Given the description of an element on the screen output the (x, y) to click on. 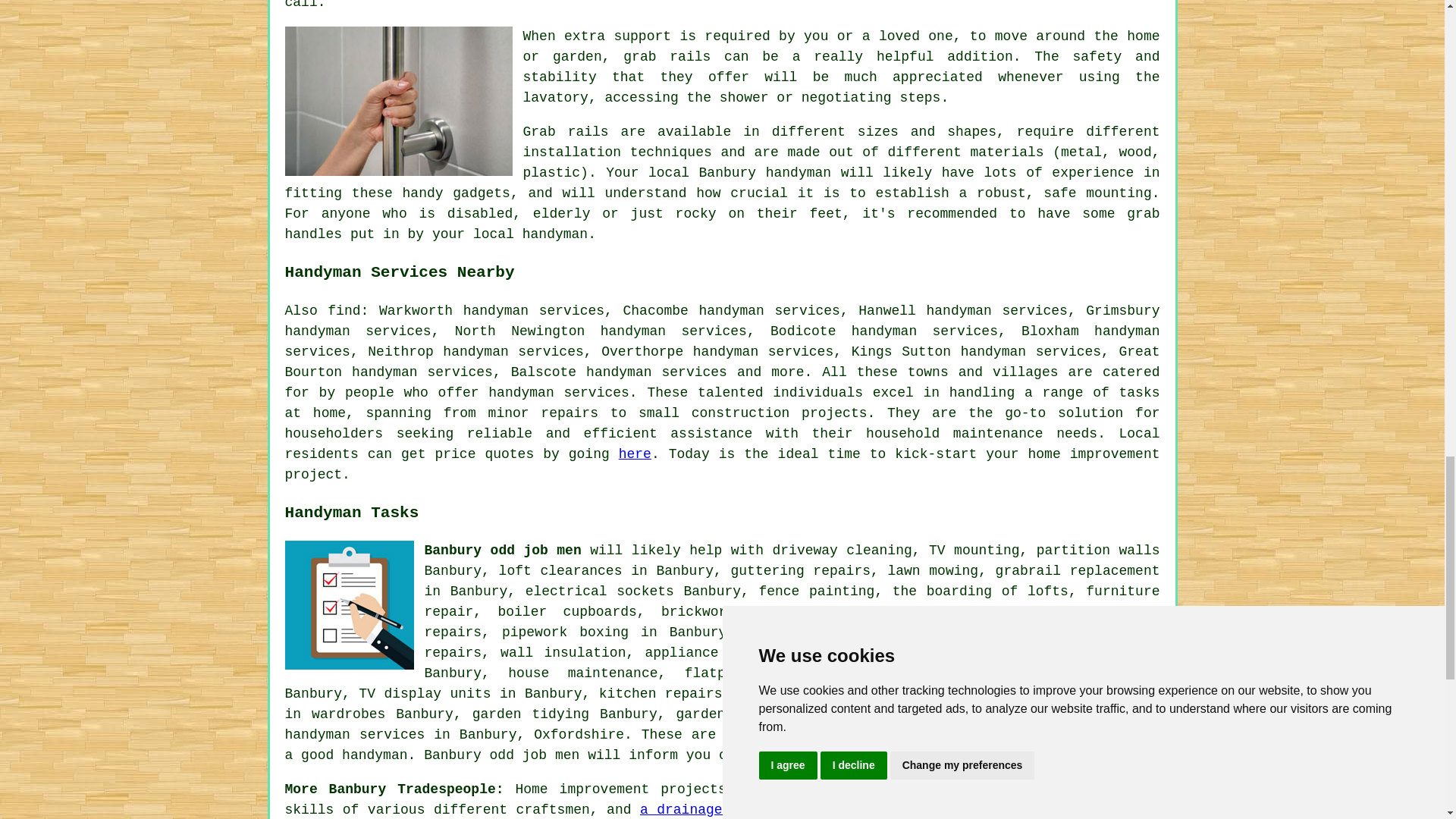
Handyman Installed Grab Rails Banbury (398, 101)
handyman services (557, 392)
handyman services (355, 734)
More Banbury Tradesmen (1095, 799)
Handyman Tasks Banbury (349, 604)
maintenance (998, 433)
